Given the description of an element on the screen output the (x, y) to click on. 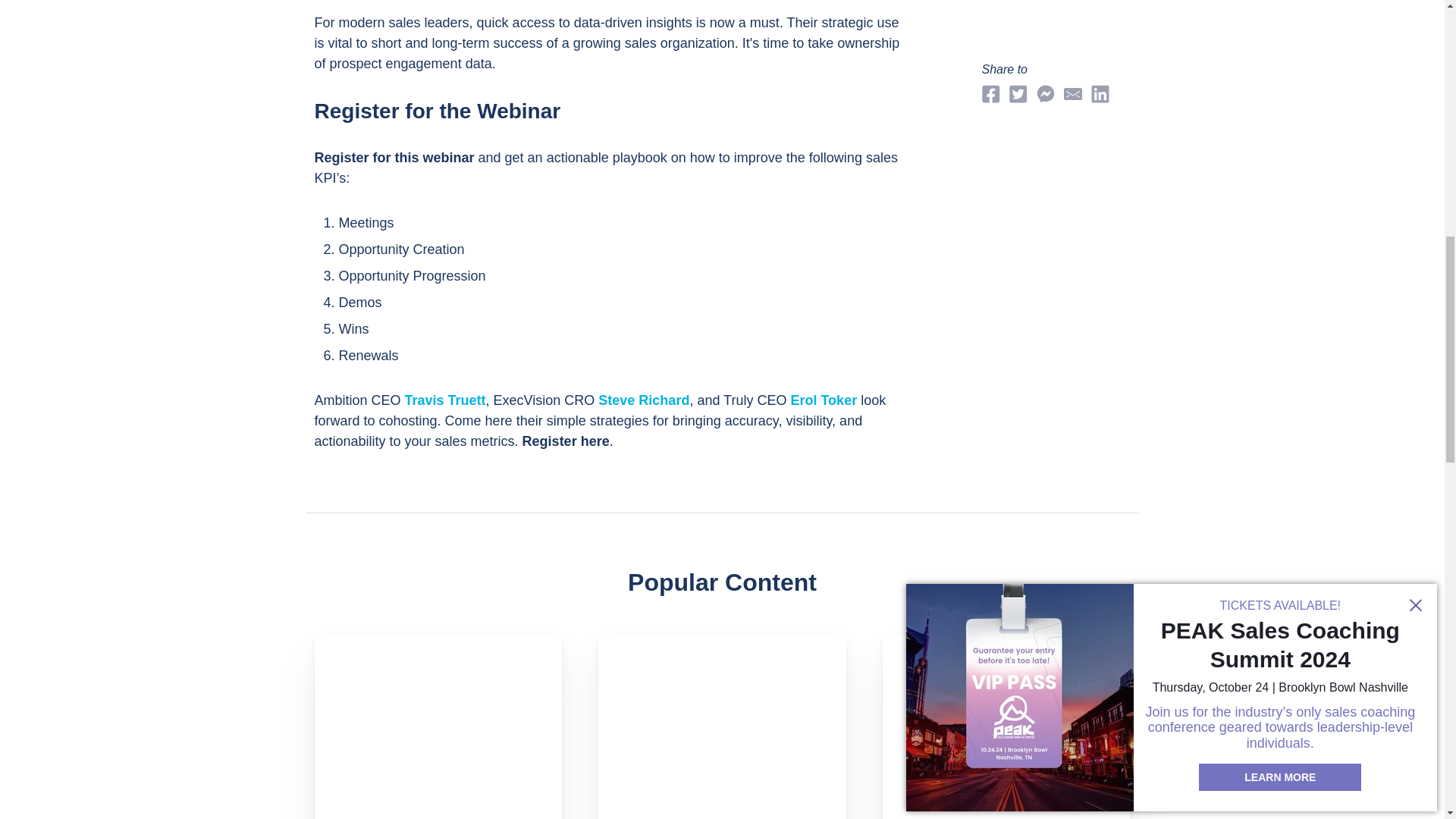
Steve Richard (643, 400)
Travis Truett (445, 400)
Erol Toker (823, 400)
